Given the description of an element on the screen output the (x, y) to click on. 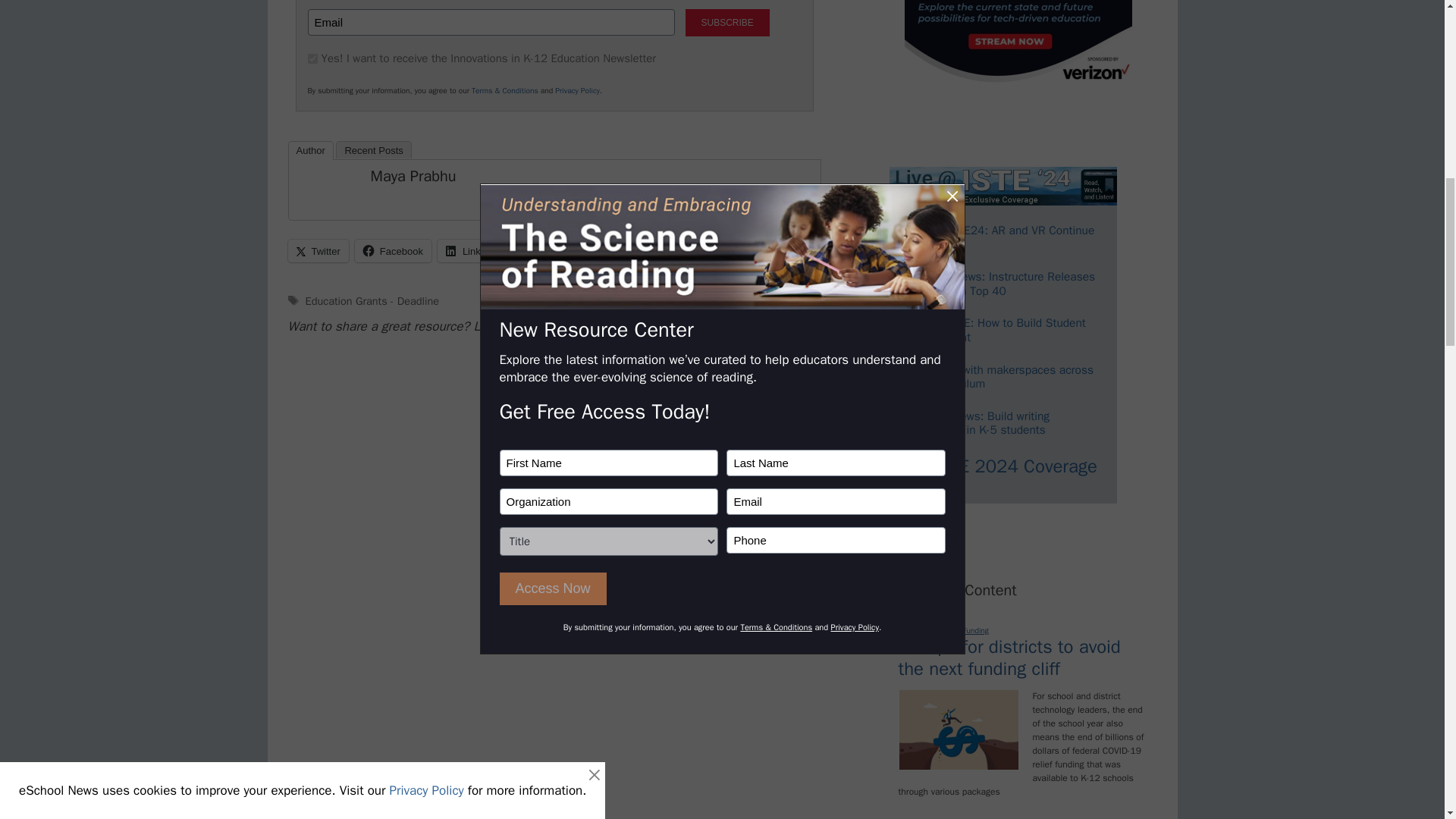
100 (312, 58)
SUBSCRIBE (727, 22)
